Given the description of an element on the screen output the (x, y) to click on. 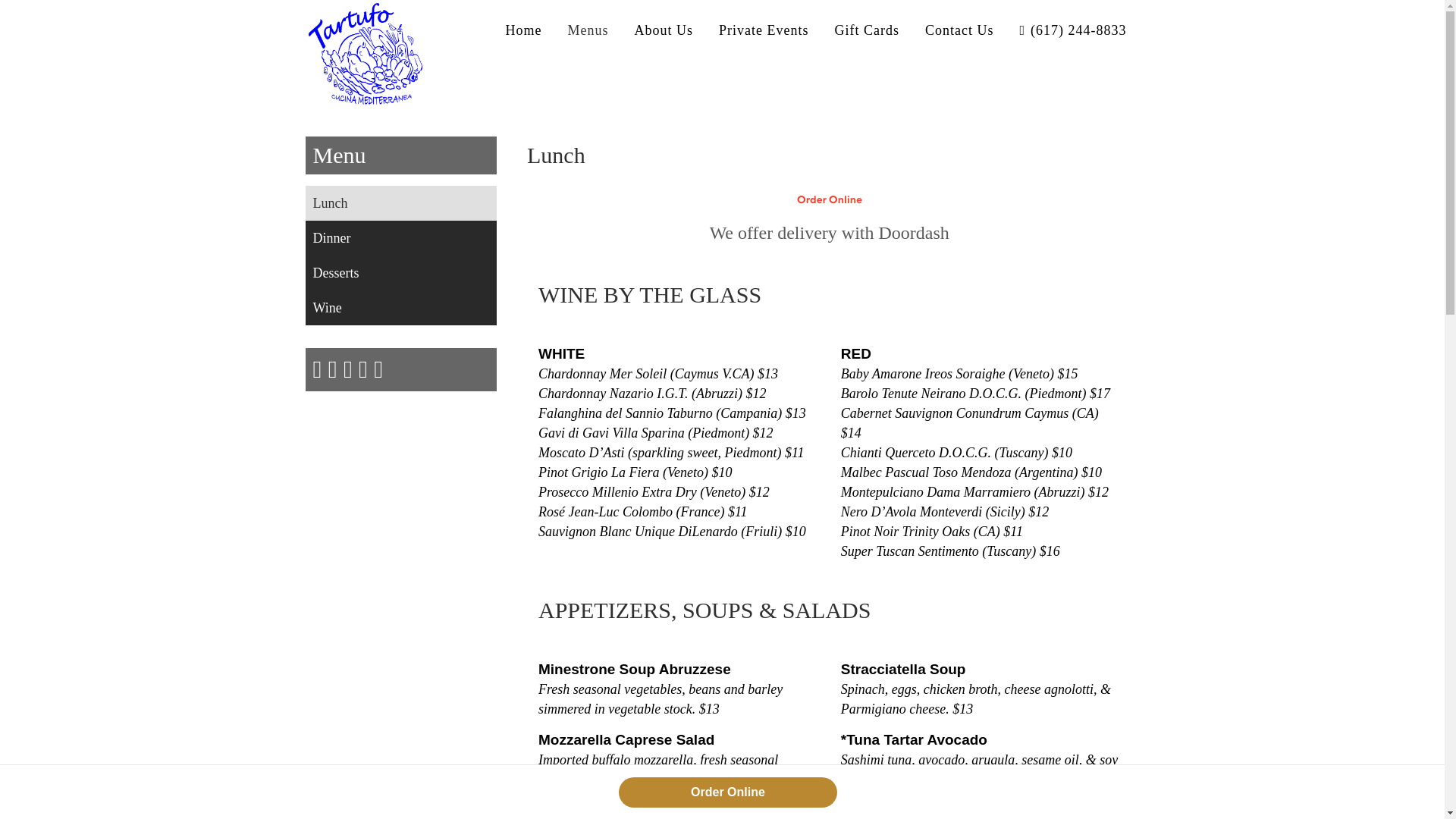
Private Events (763, 30)
Menus (587, 30)
Gift Cards (866, 30)
Contact Us (959, 30)
Order Food Delivery with DoorDash (829, 198)
Desserts (400, 272)
Wine (400, 307)
About Us (663, 30)
Order Food Delivery with DoorDash (829, 198)
Lunch (400, 202)
Dinner (400, 237)
Home (523, 30)
